Given the description of an element on the screen output the (x, y) to click on. 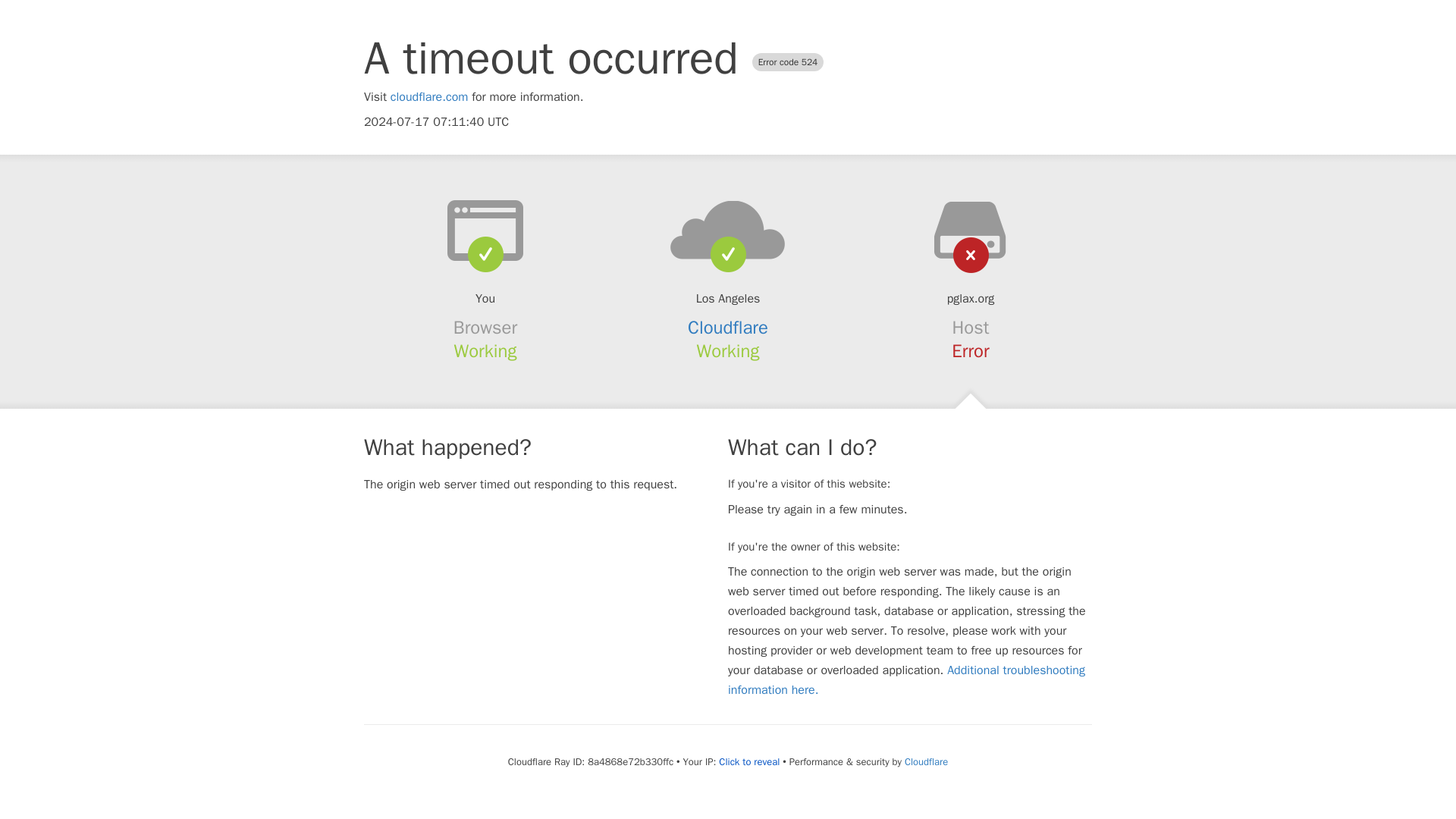
Cloudflare (727, 327)
Additional troubleshooting information here. (906, 679)
Click to reveal (748, 762)
Cloudflare (925, 761)
cloudflare.com (429, 96)
